Given the description of an element on the screen output the (x, y) to click on. 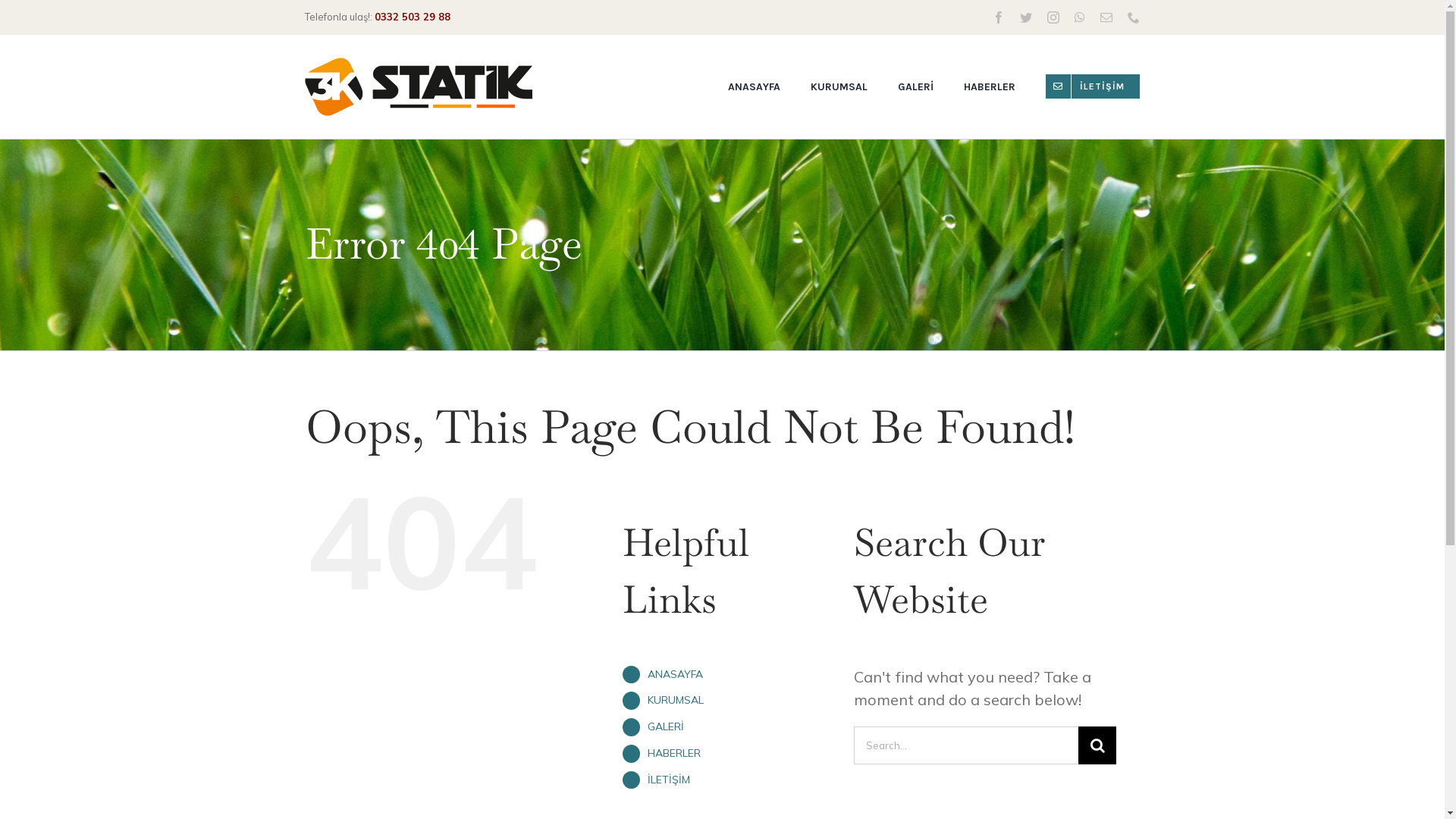
ANASAYFA Element type: text (674, 673)
HABERLER Element type: text (673, 752)
Instagram Element type: hover (1053, 17)
KURUMSAL Element type: text (838, 86)
WhatsApp Element type: hover (1079, 17)
Email Element type: hover (1106, 17)
Facebook Element type: hover (998, 17)
Twitter Element type: hover (1025, 17)
KURUMSAL Element type: text (675, 699)
HABERLER Element type: text (989, 86)
Phone Element type: hover (1133, 17)
ANASAYFA Element type: text (754, 86)
